Given the description of an element on the screen output the (x, y) to click on. 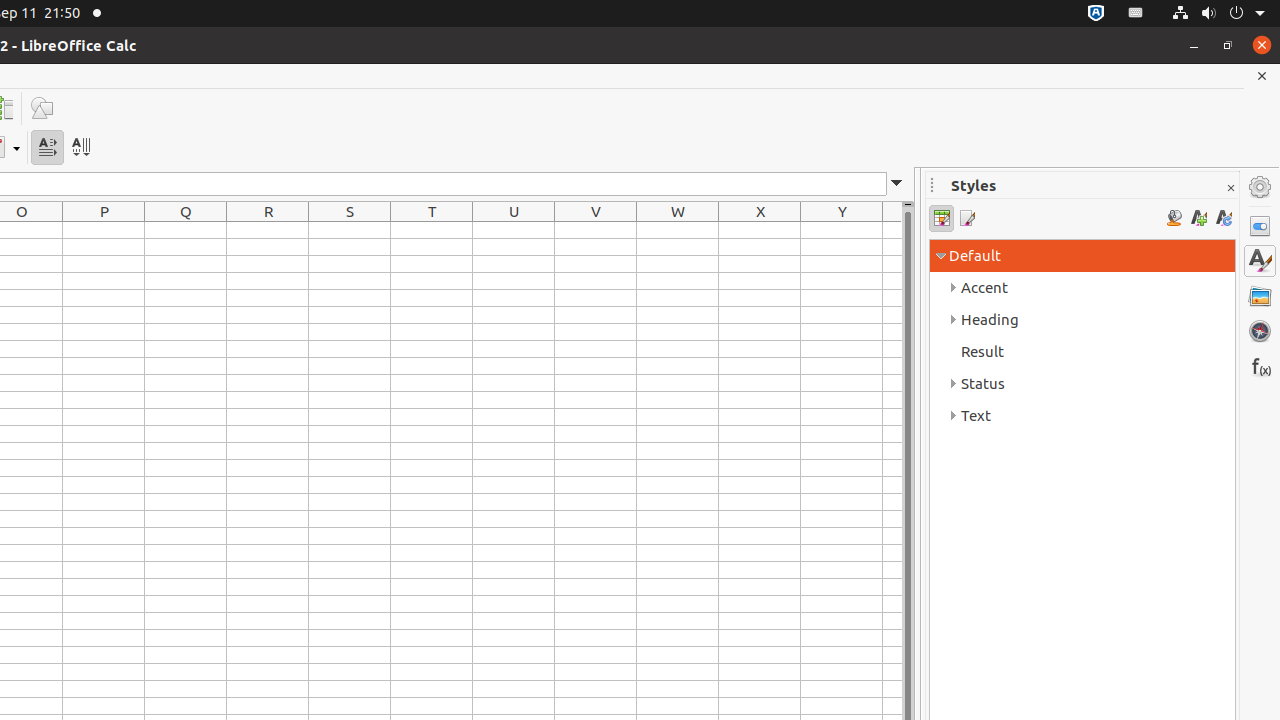
S1 Element type: table-cell (350, 230)
P1 Element type: table-cell (104, 230)
Q1 Element type: table-cell (186, 230)
Expand Formula Bar Element type: push-button (897, 183)
